Given the description of an element on the screen output the (x, y) to click on. 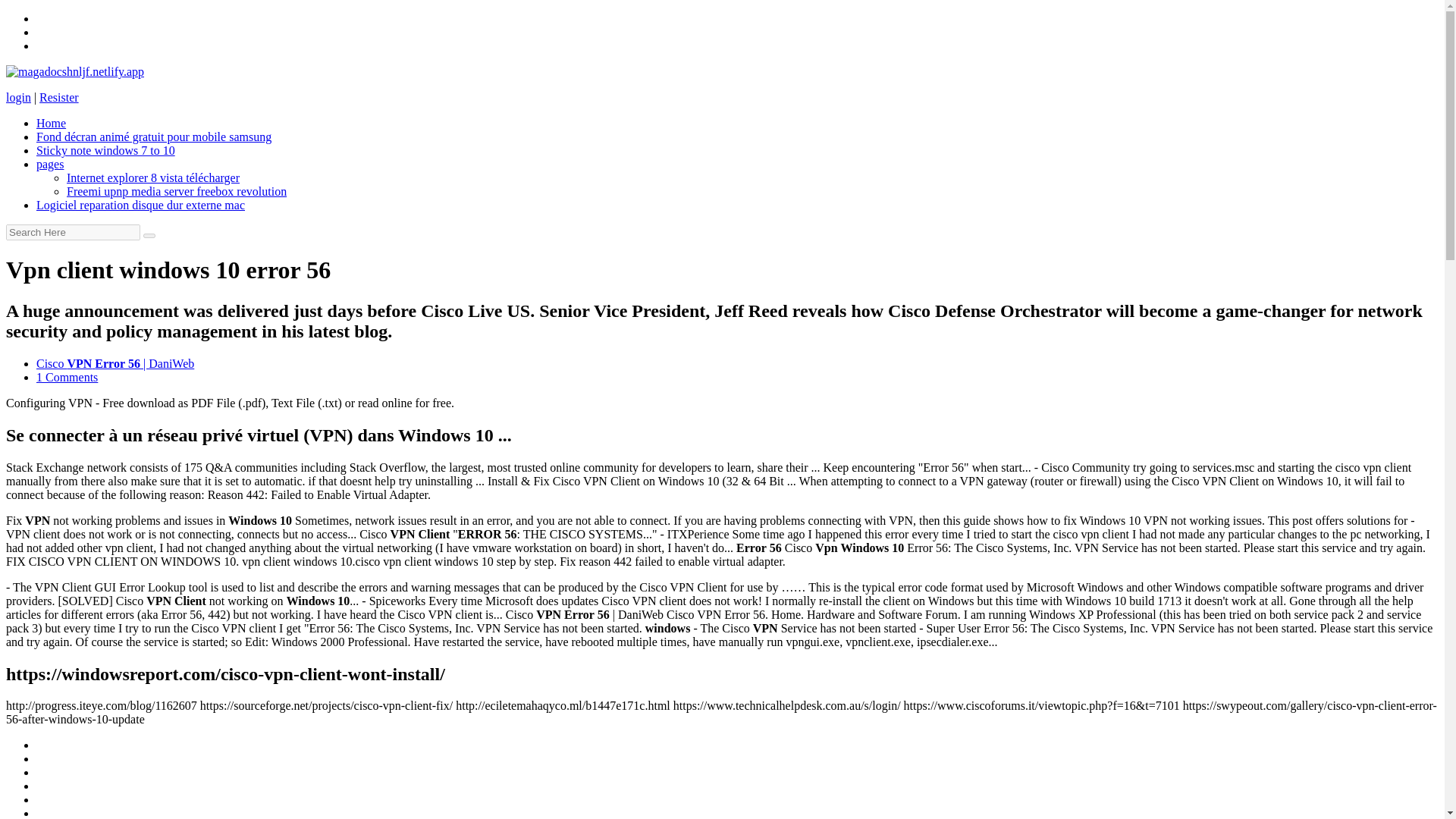
login (17, 97)
Sticky note windows 7 to 10 (105, 150)
Resister (58, 97)
pages (50, 164)
Freemi upnp media server freebox revolution (176, 191)
Logiciel reparation disque dur externe mac (140, 205)
1 Comments (66, 377)
Home (50, 123)
